Given the description of an element on the screen output the (x, y) to click on. 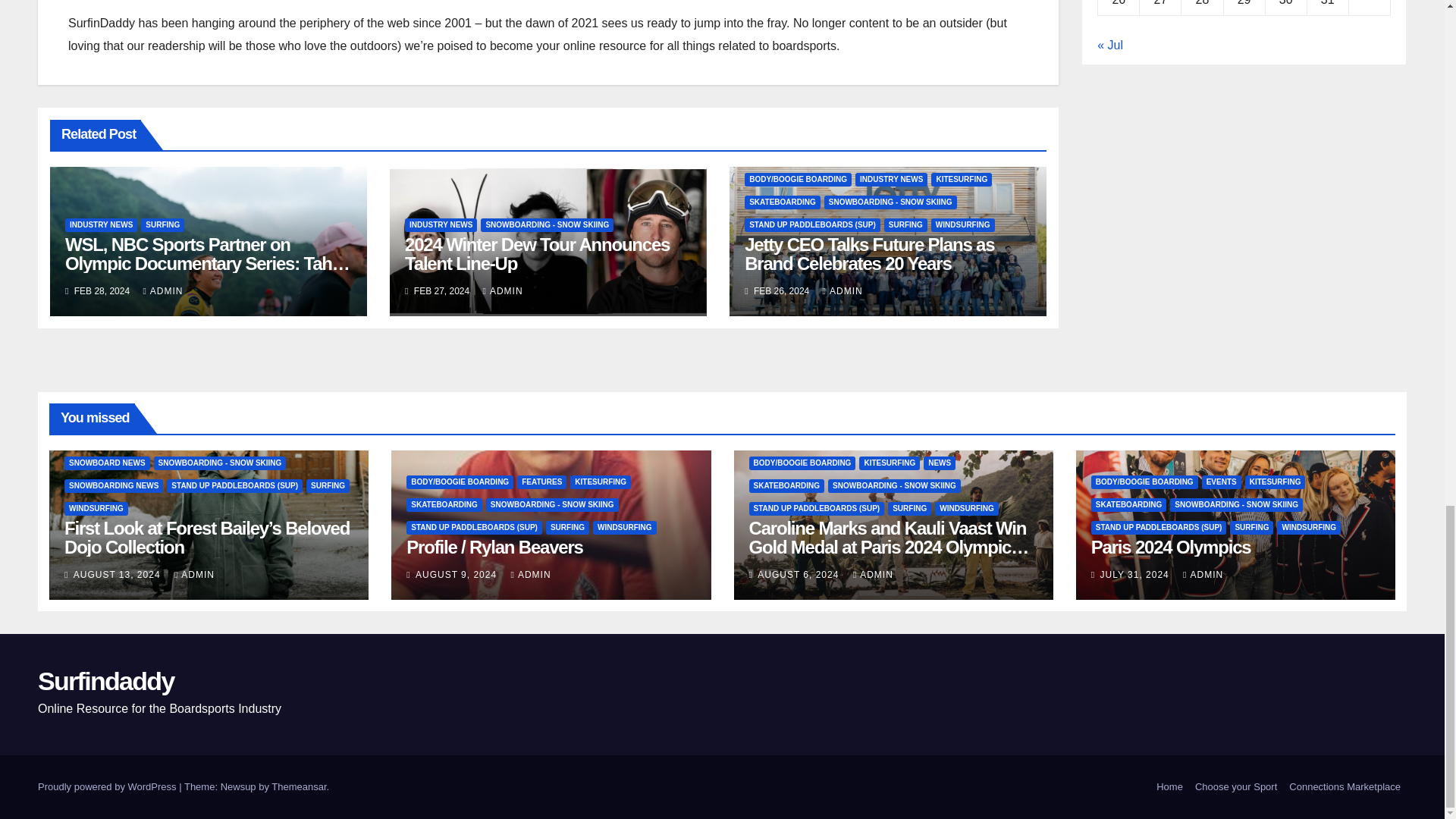
Permalink to: 2024 Winter Dew Tour Announces Talent Line-Up (536, 253)
INDUSTRY NEWS (100, 224)
SURFING (162, 224)
